Given the description of an element on the screen output the (x, y) to click on. 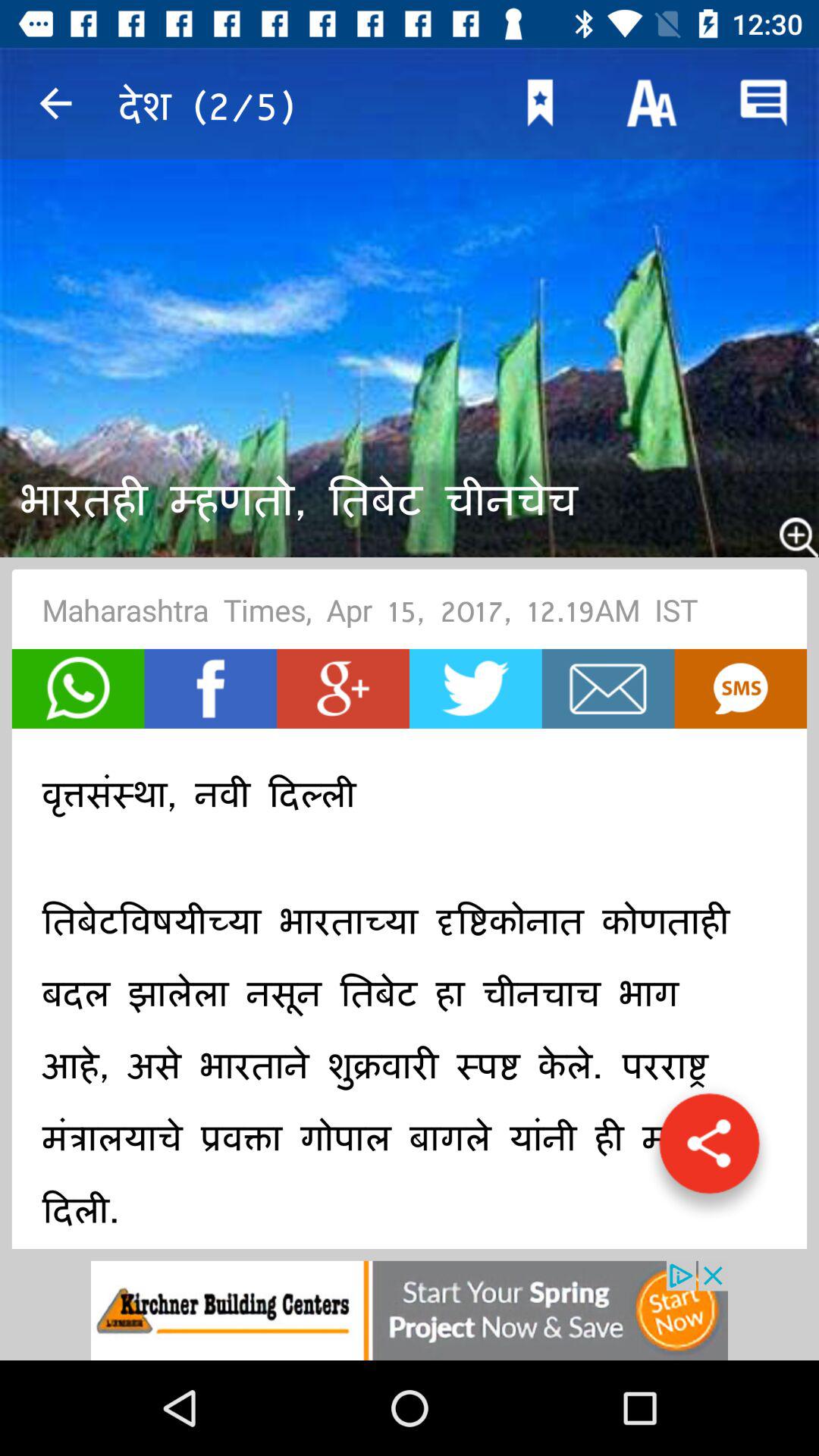
to go subtiffles captioning (740, 688)
